Given the description of an element on the screen output the (x, y) to click on. 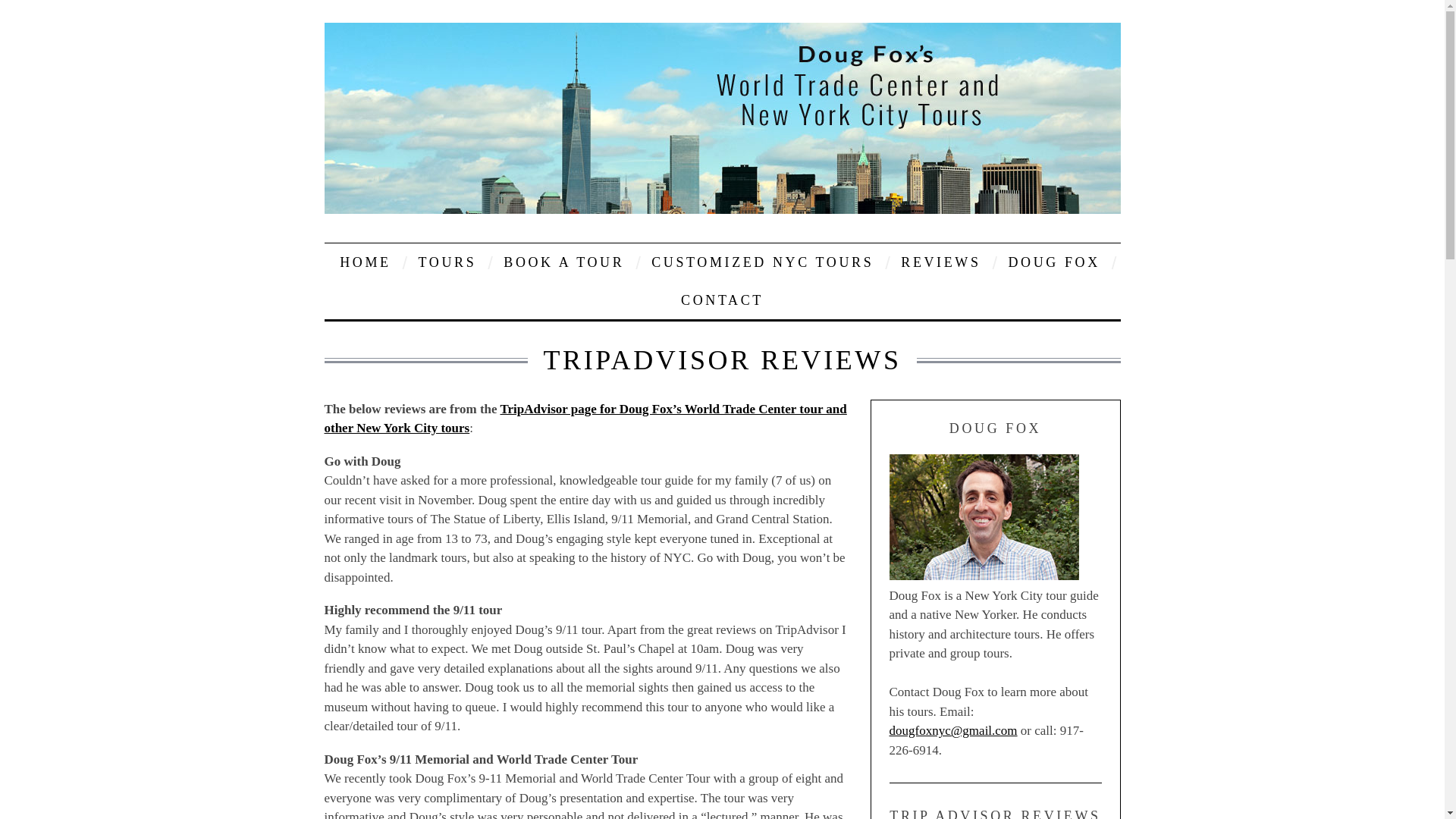
TOURS (447, 261)
CUSTOMIZED NYC TOURS (762, 261)
BOOK A TOUR (563, 261)
CONTACT (721, 299)
REVIEWS (940, 261)
HOME (365, 261)
DOUG FOX (1052, 261)
